Given the description of an element on the screen output the (x, y) to click on. 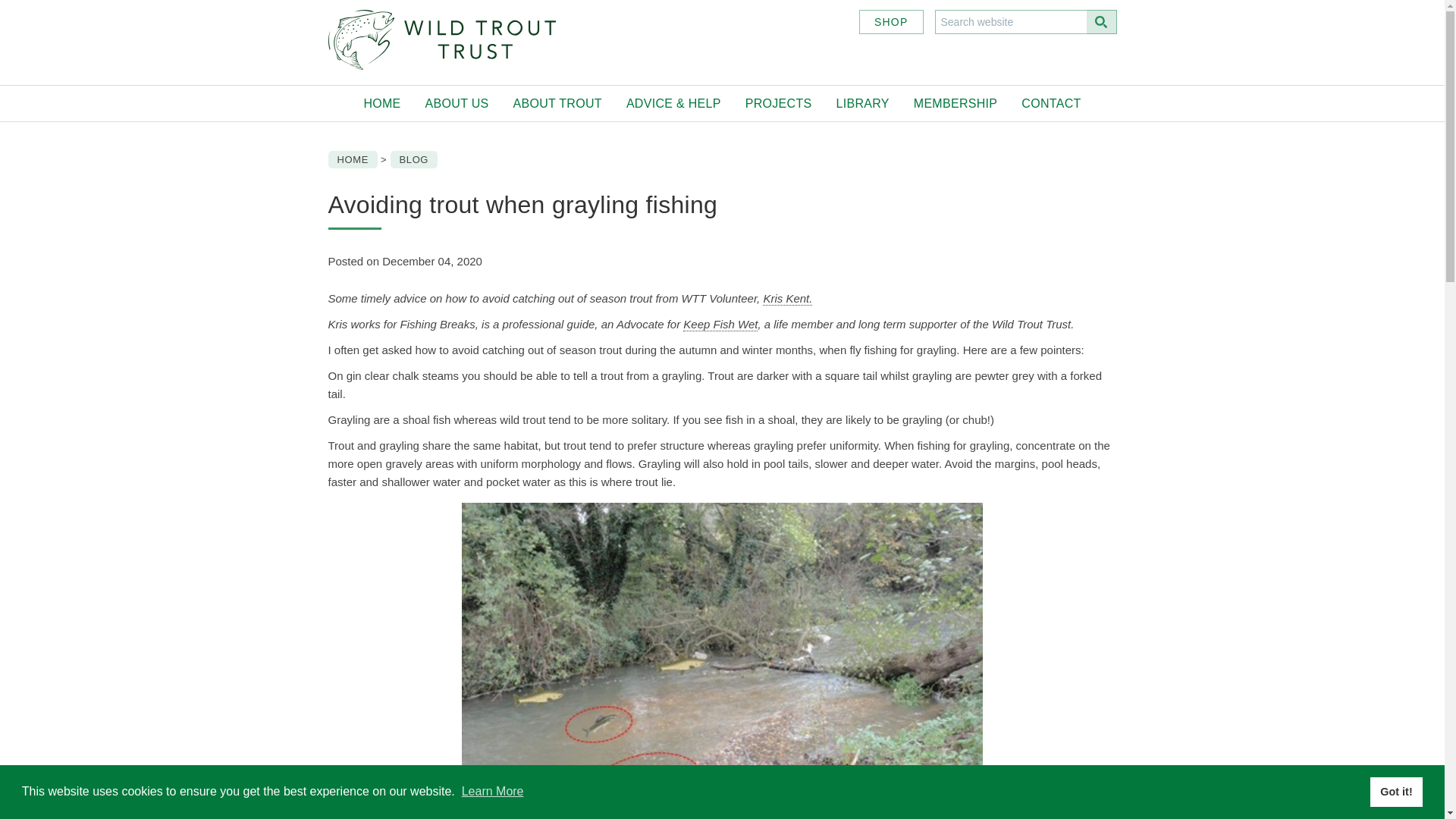
Submit (1101, 21)
Learn More (492, 790)
HOME (381, 103)
SHOP (891, 21)
ABOUT TROUT (556, 103)
ABOUT US (456, 103)
Got it! (1396, 791)
PROJECTS (778, 103)
